Given the description of an element on the screen output the (x, y) to click on. 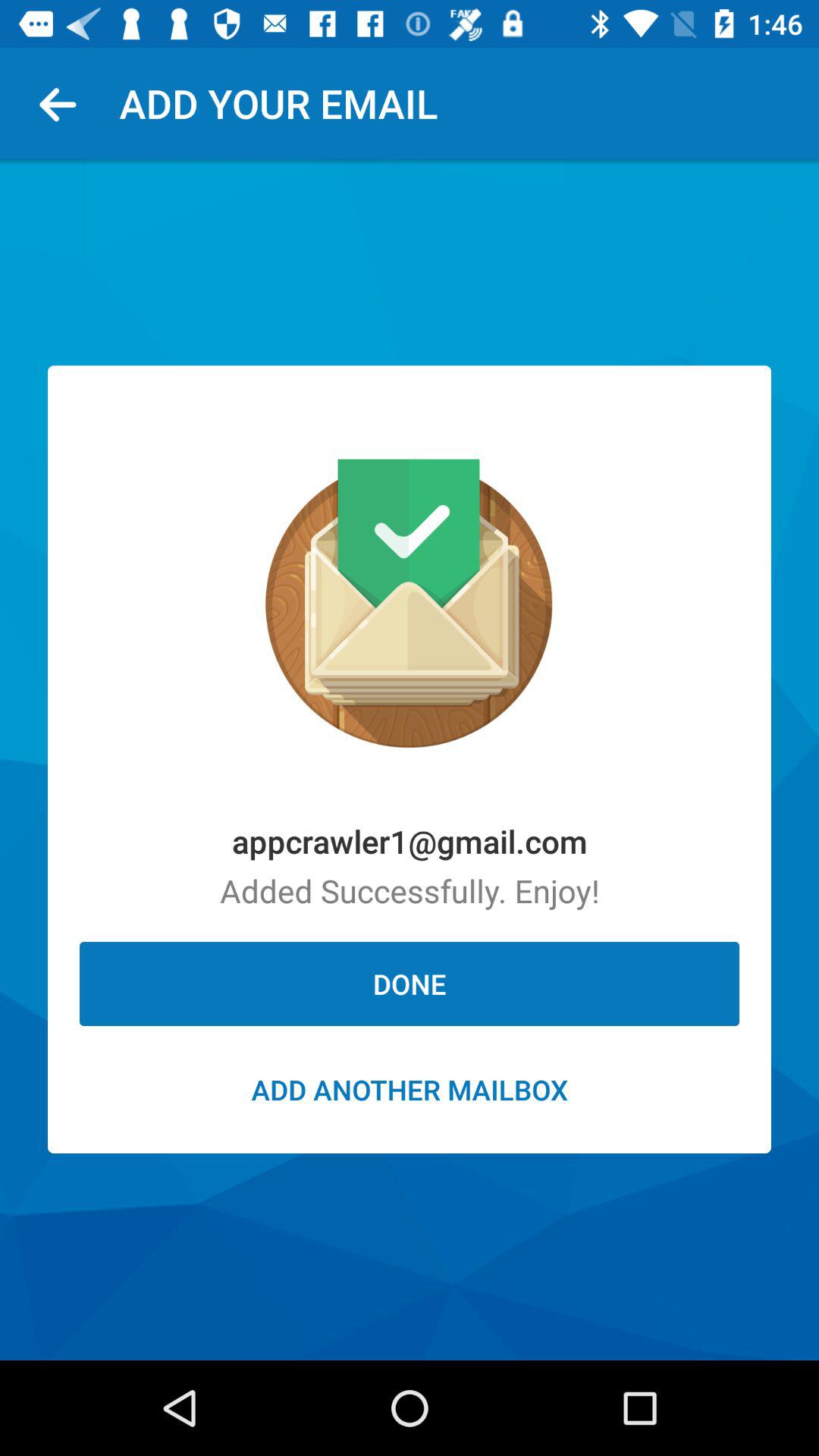
choose the app to the left of the add your email item (63, 103)
